Given the description of an element on the screen output the (x, y) to click on. 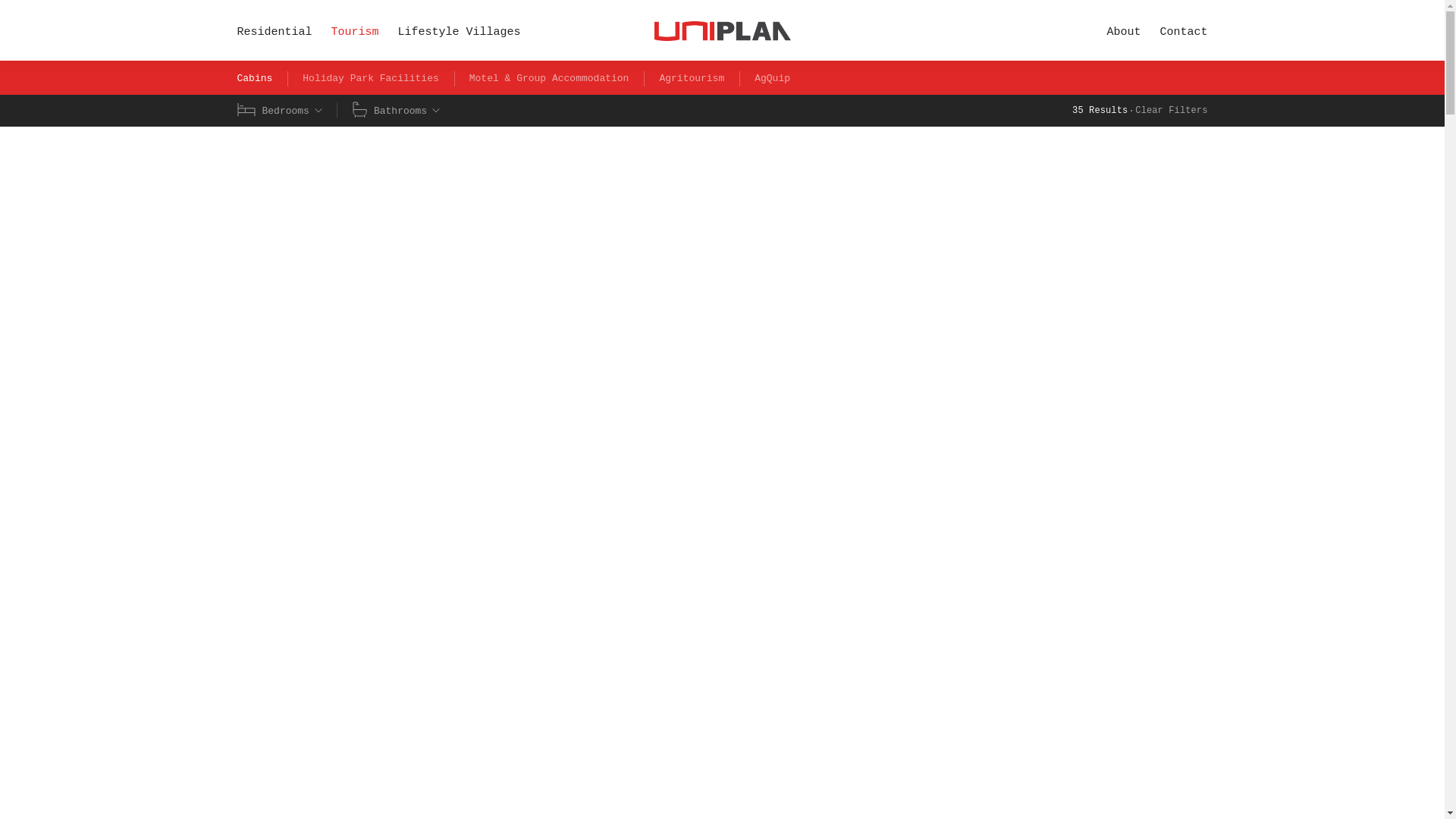
About (1123, 31)
Bedrooms (278, 110)
Contact (1182, 31)
Residential (273, 31)
Cabins (253, 78)
Clear Filters (1171, 110)
Holiday Park Facilities (370, 78)
Lifestyle Villages (459, 31)
Bathrooms (395, 110)
AgQuip (772, 78)
